Given the description of an element on the screen output the (x, y) to click on. 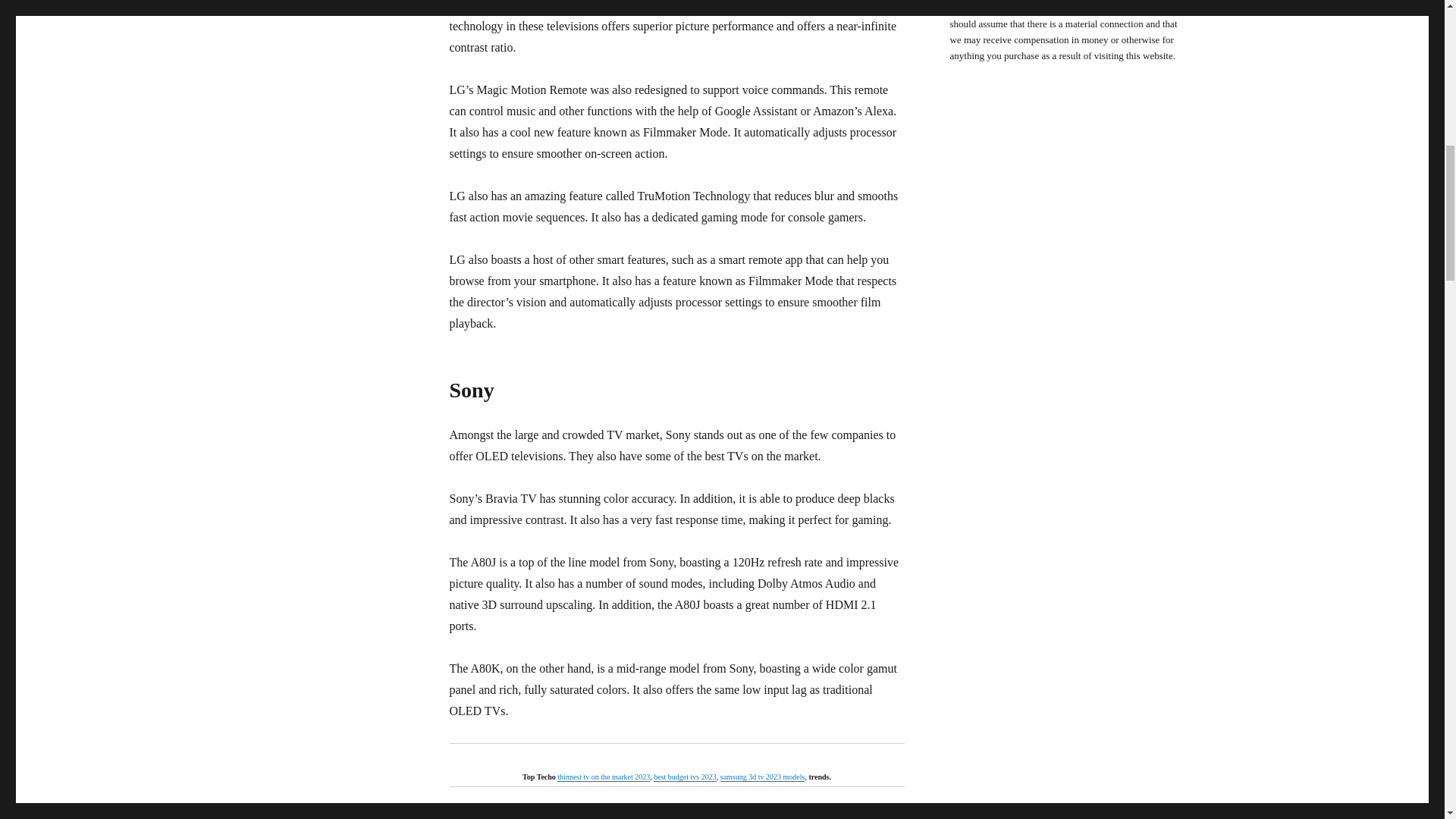
best budget tvs 2023 (684, 777)
thinnest tv on the market 2023 (603, 777)
samsung 3d tv 2023 models (762, 777)
